Given the description of an element on the screen output the (x, y) to click on. 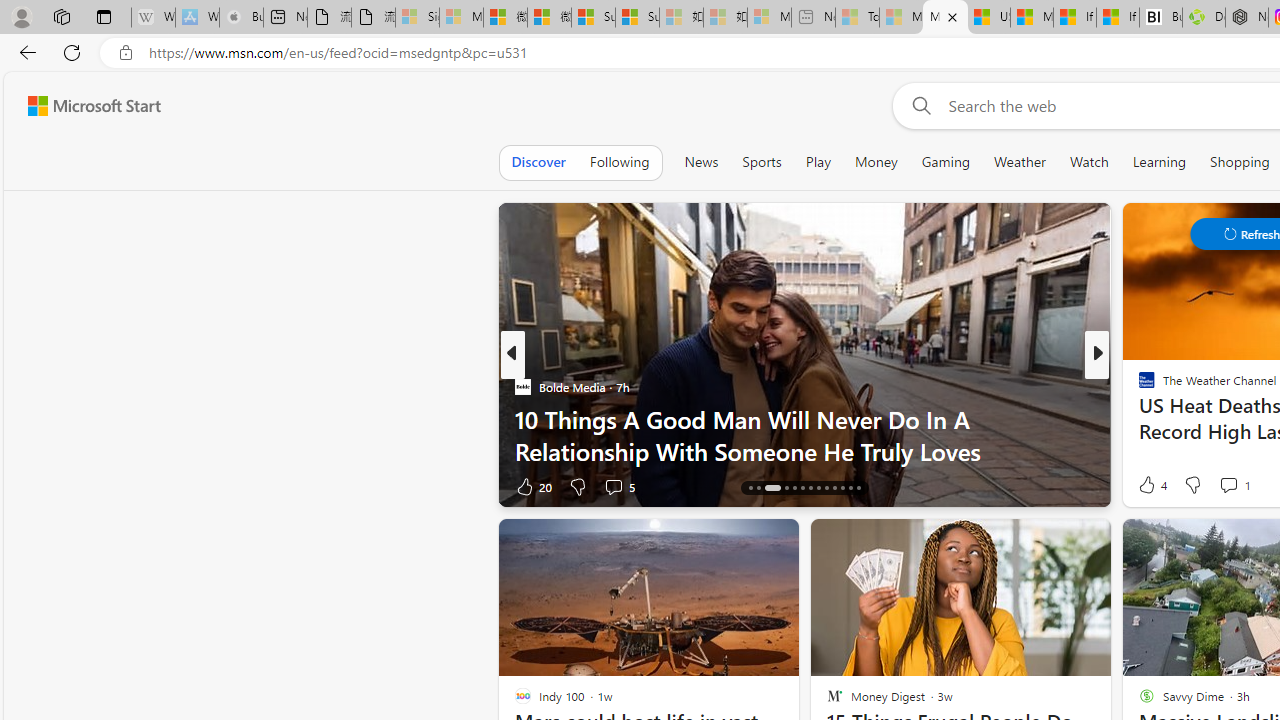
Sign in to your Microsoft account - Sleeping (417, 17)
View comments 3 Comment (1234, 485)
View comments 53 Comment (1234, 485)
AutomationID: tab-25 (850, 487)
Buy iPad - Apple - Sleeping (241, 17)
311 Like (1151, 486)
View comments 1 Comment (1228, 485)
Sports (761, 162)
AutomationID: tab-23 (833, 487)
US Heat Deaths Soared To Record High Last Year (988, 17)
